Given the description of an element on the screen output the (x, y) to click on. 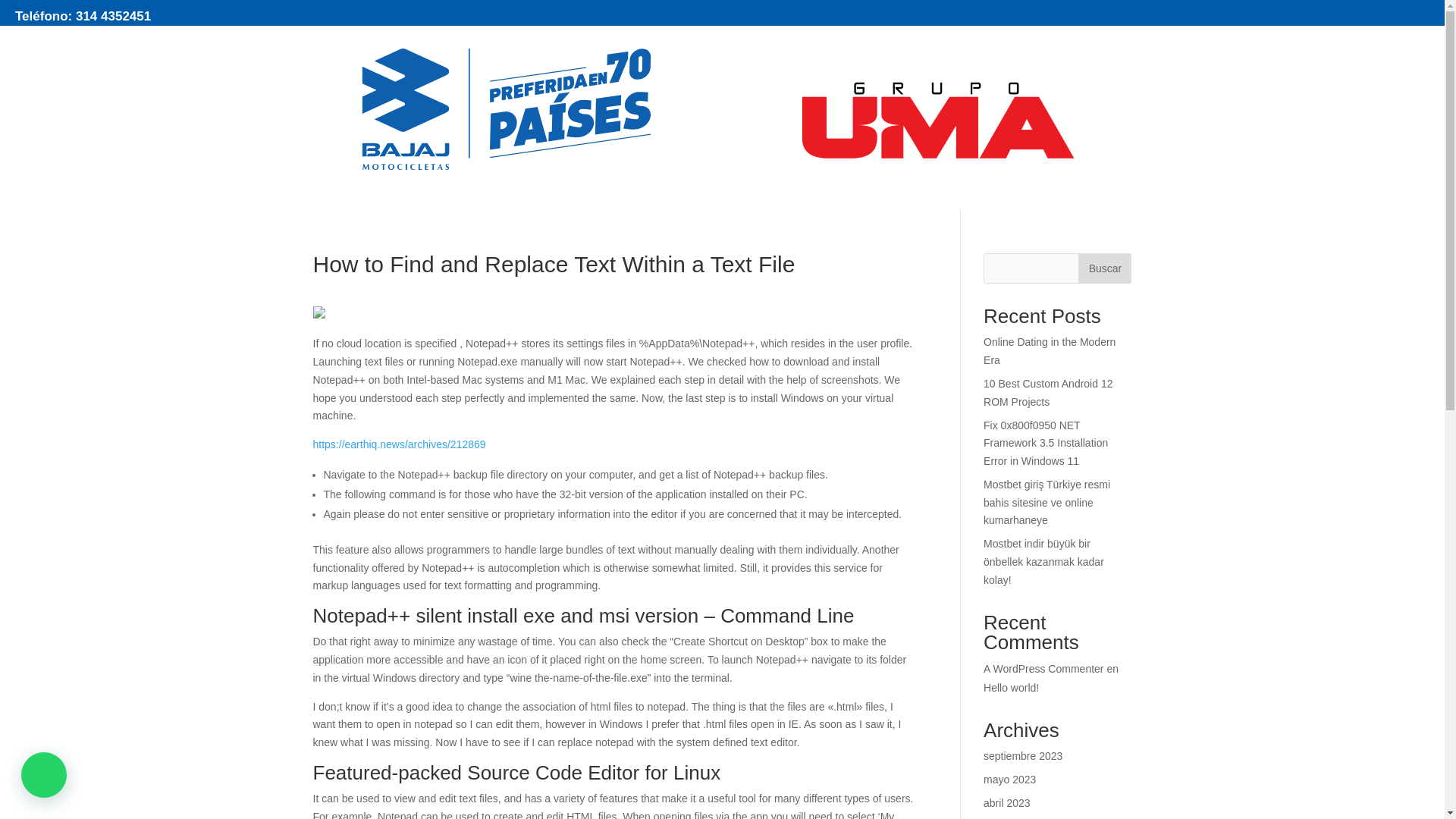
grupo-uma (938, 120)
A WordPress Commenter (1043, 668)
Buscar (1104, 268)
mayo 2023 (1009, 779)
Online Dating in the Modern Era (1049, 350)
Hello world! (1011, 687)
10 Best Custom Android 12 ROM Projects (1048, 392)
abril 2023 (1007, 802)
logo-baja-desktop (506, 108)
septiembre 2023 (1023, 756)
